Given the description of an element on the screen output the (x, y) to click on. 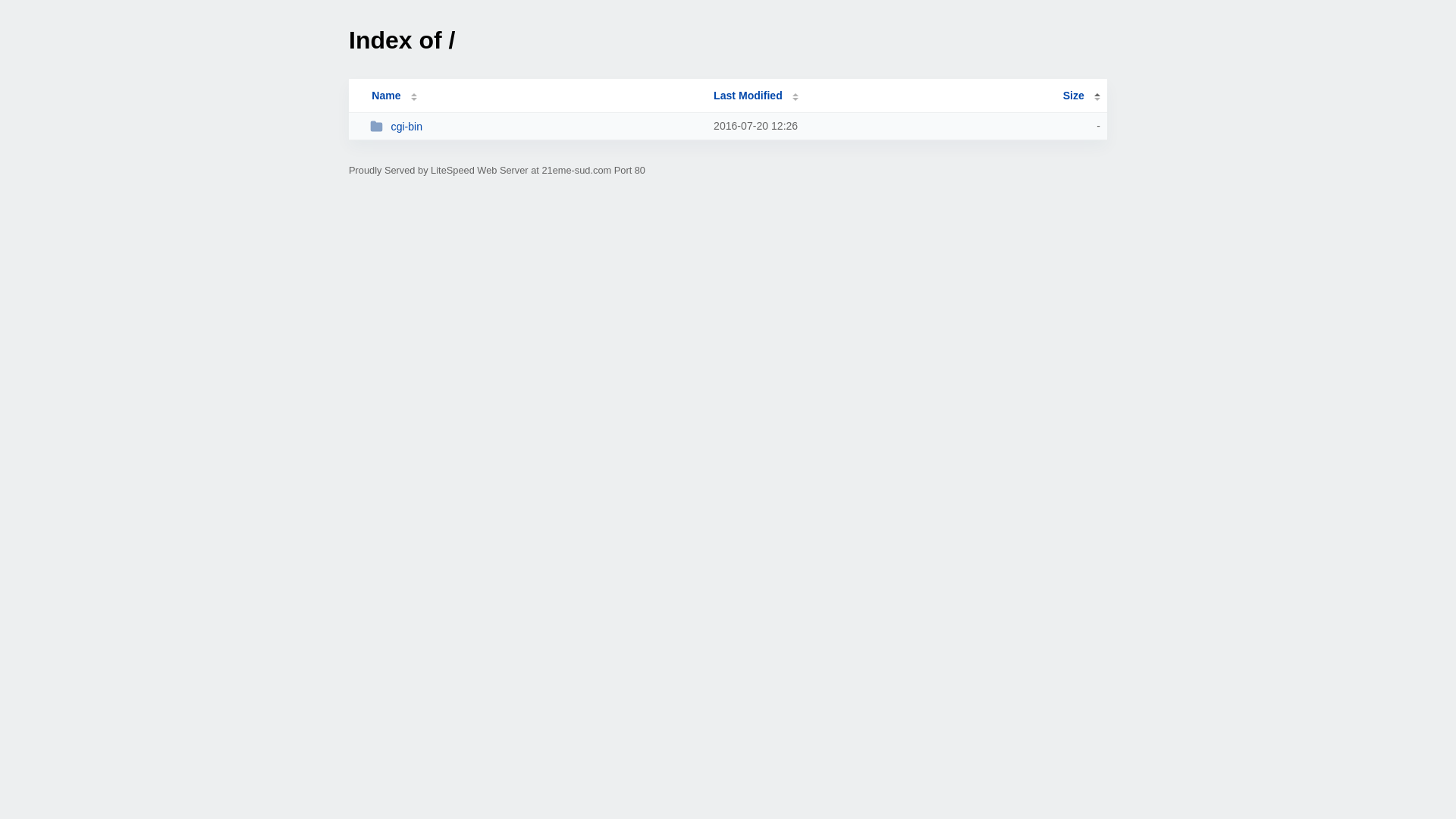
Name Element type: text (385, 95)
Last Modified Element type: text (755, 95)
Size Element type: text (1081, 95)
cgi-bin Element type: text (534, 125)
